Given the description of an element on the screen output the (x, y) to click on. 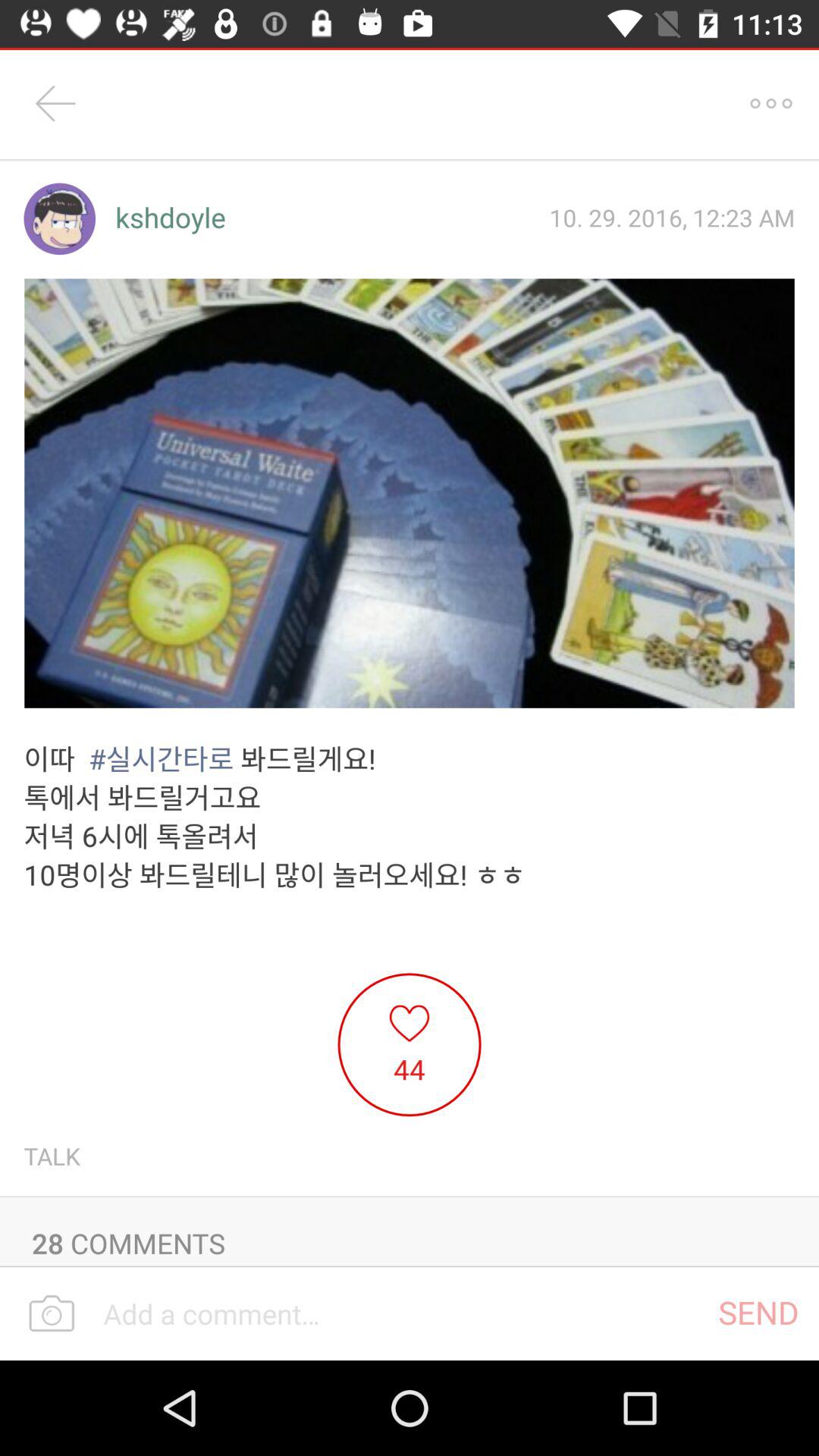
profile (59, 218)
